Given the description of an element on the screen output the (x, y) to click on. 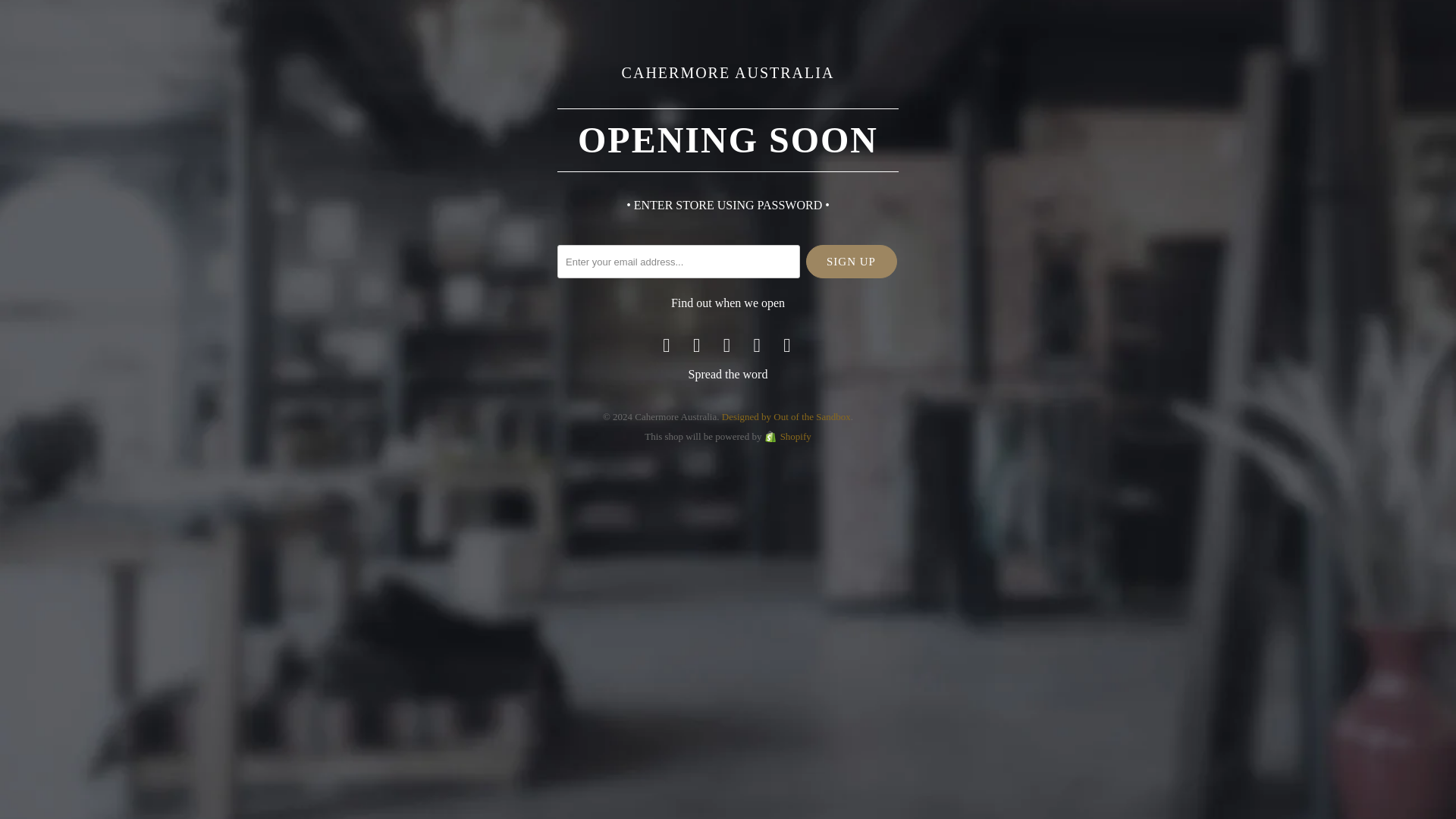
Email Cahermore Australia (787, 344)
Turbo Shopify Theme by Out of the Sandbox (786, 416)
Cahermore Australia on Twitter (666, 344)
Designed by Out of the Sandbox (786, 416)
Sign Up (850, 261)
Enter (809, 394)
Cahermore Australia on Instagram (757, 344)
Sign Up (850, 261)
Cahermore Australia on Facebook (697, 344)
